Given the description of an element on the screen output the (x, y) to click on. 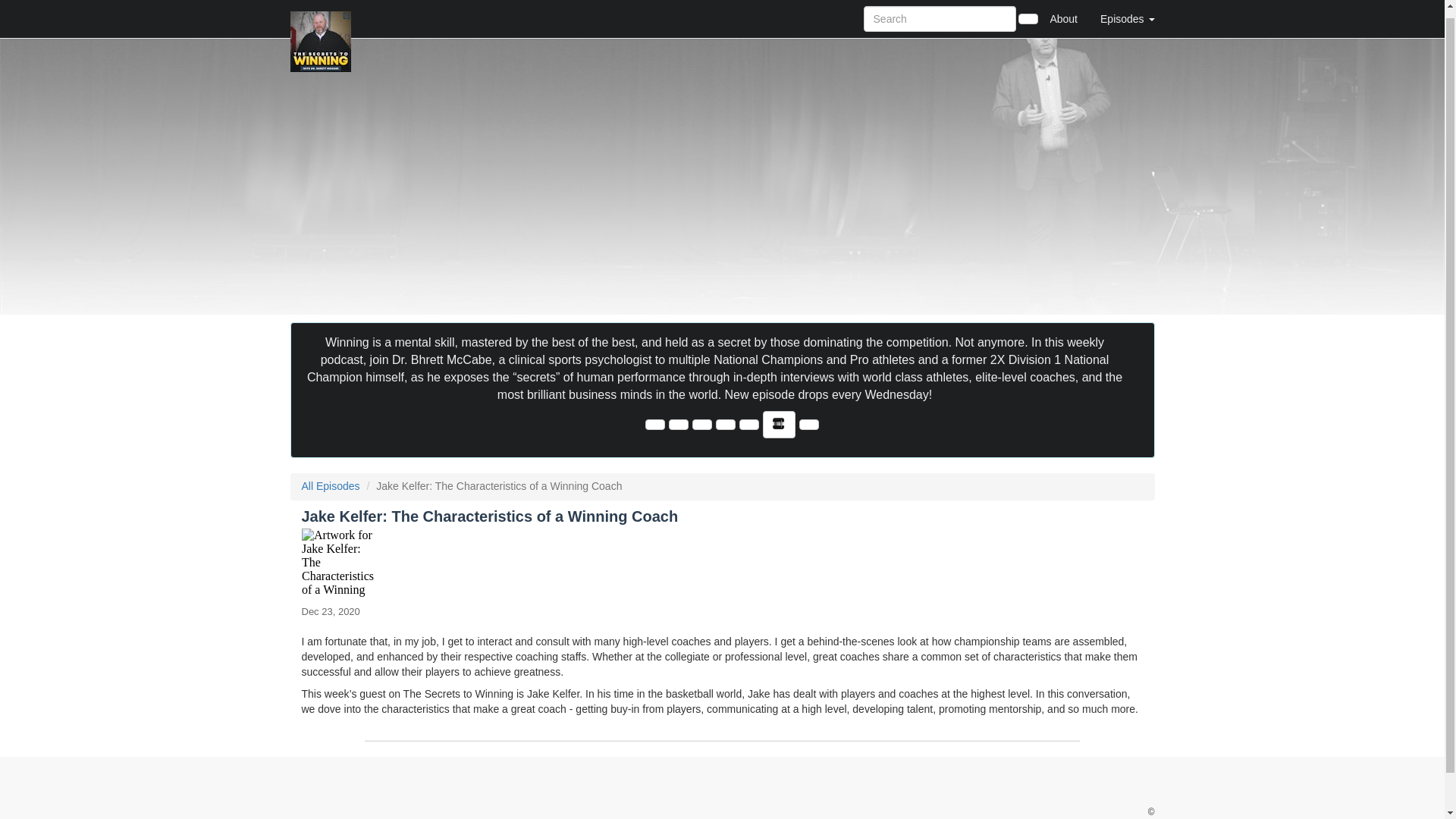
About (1063, 15)
Episodes (1127, 15)
Jake Kelfer: The Characteristics of a Winning Coach (721, 562)
Home Page (320, 15)
